Given the description of an element on the screen output the (x, y) to click on. 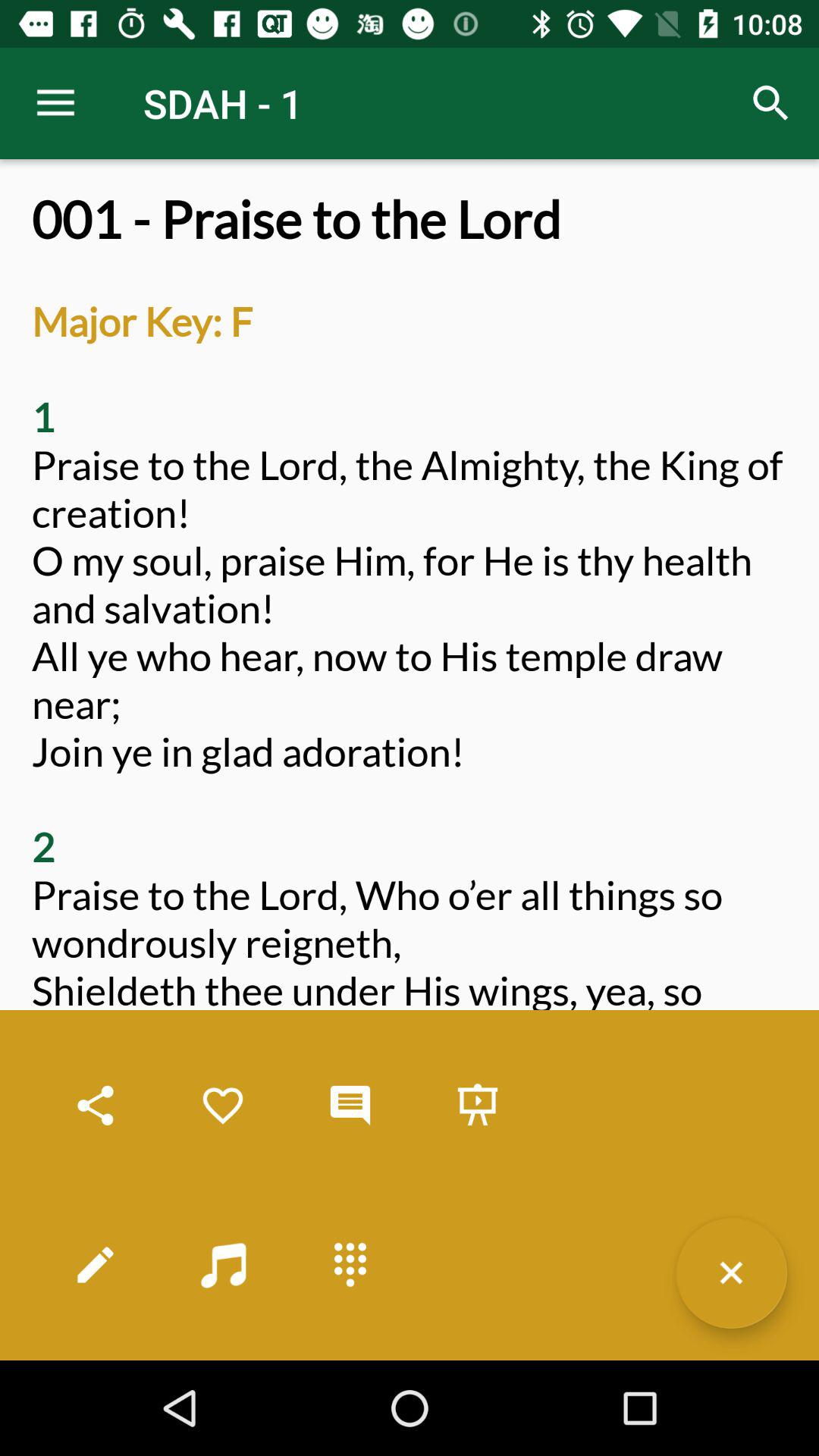
go back (731, 1272)
